Given the description of an element on the screen output the (x, y) to click on. 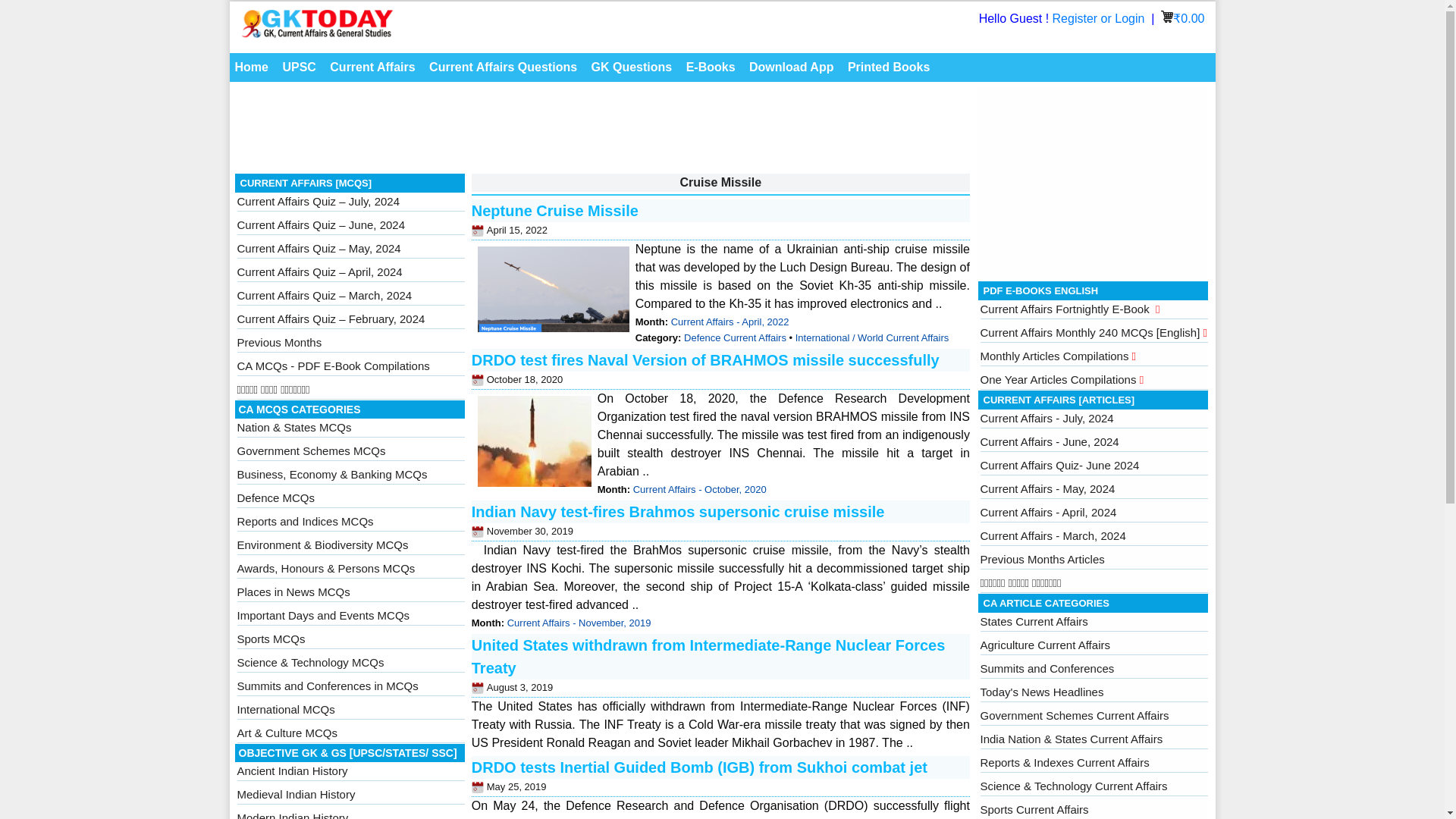
Previous Months (278, 341)
Printed Books (888, 67)
UPSC (298, 67)
Current Affairs - October, 2020 (700, 489)
Defence Current Affairs (735, 337)
GK Questions (632, 67)
Current Affairs - November, 2019 (578, 622)
E-Books (711, 67)
Indian Navy test-fires Brahmos supersonic cruise missile (678, 511)
Neptune Cruise Missile (555, 210)
Download App (791, 67)
Register or Login (1100, 18)
Current Affairs (372, 67)
Current Affairs - April, 2022 (730, 321)
